Given the description of an element on the screen output the (x, y) to click on. 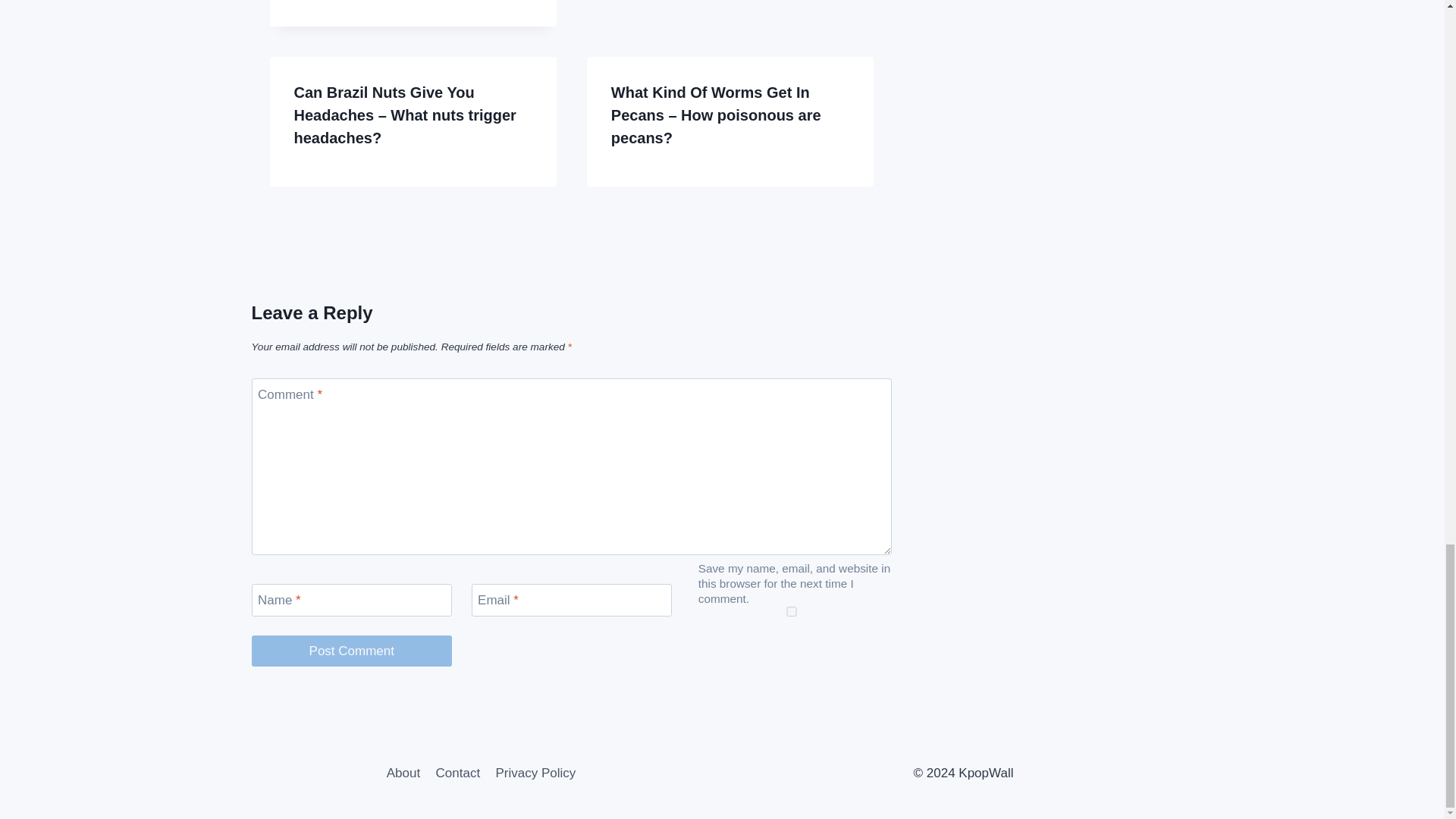
yes (791, 611)
Post Comment (351, 650)
